Given the description of an element on the screen output the (x, y) to click on. 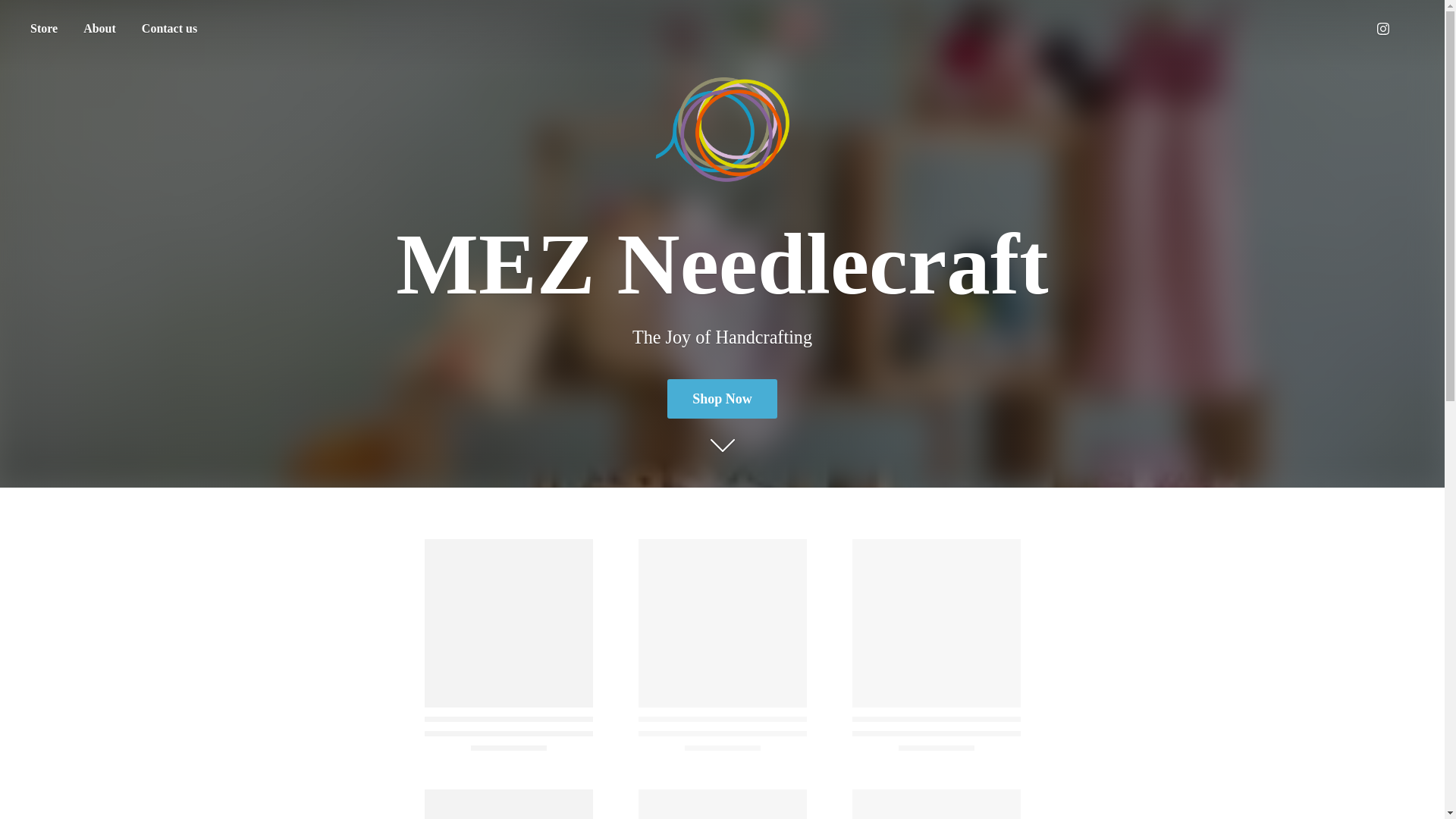
Contact us (169, 29)
Store (43, 29)
Shop Now (721, 398)
About (99, 29)
